Given the description of an element on the screen output the (x, y) to click on. 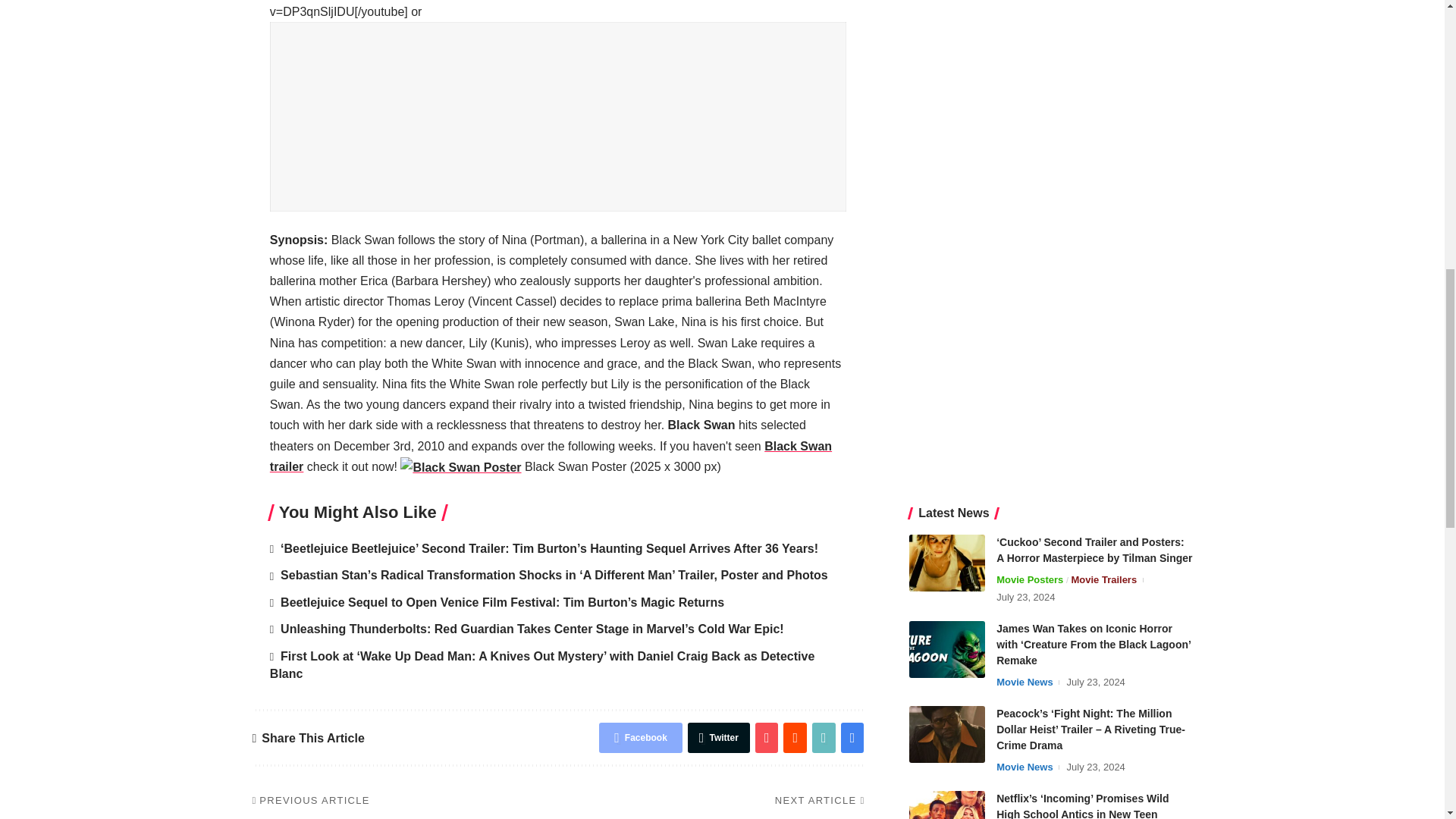
Black Swan Trailer Hits! (550, 456)
Black Swan (460, 467)
